Given the description of an element on the screen output the (x, y) to click on. 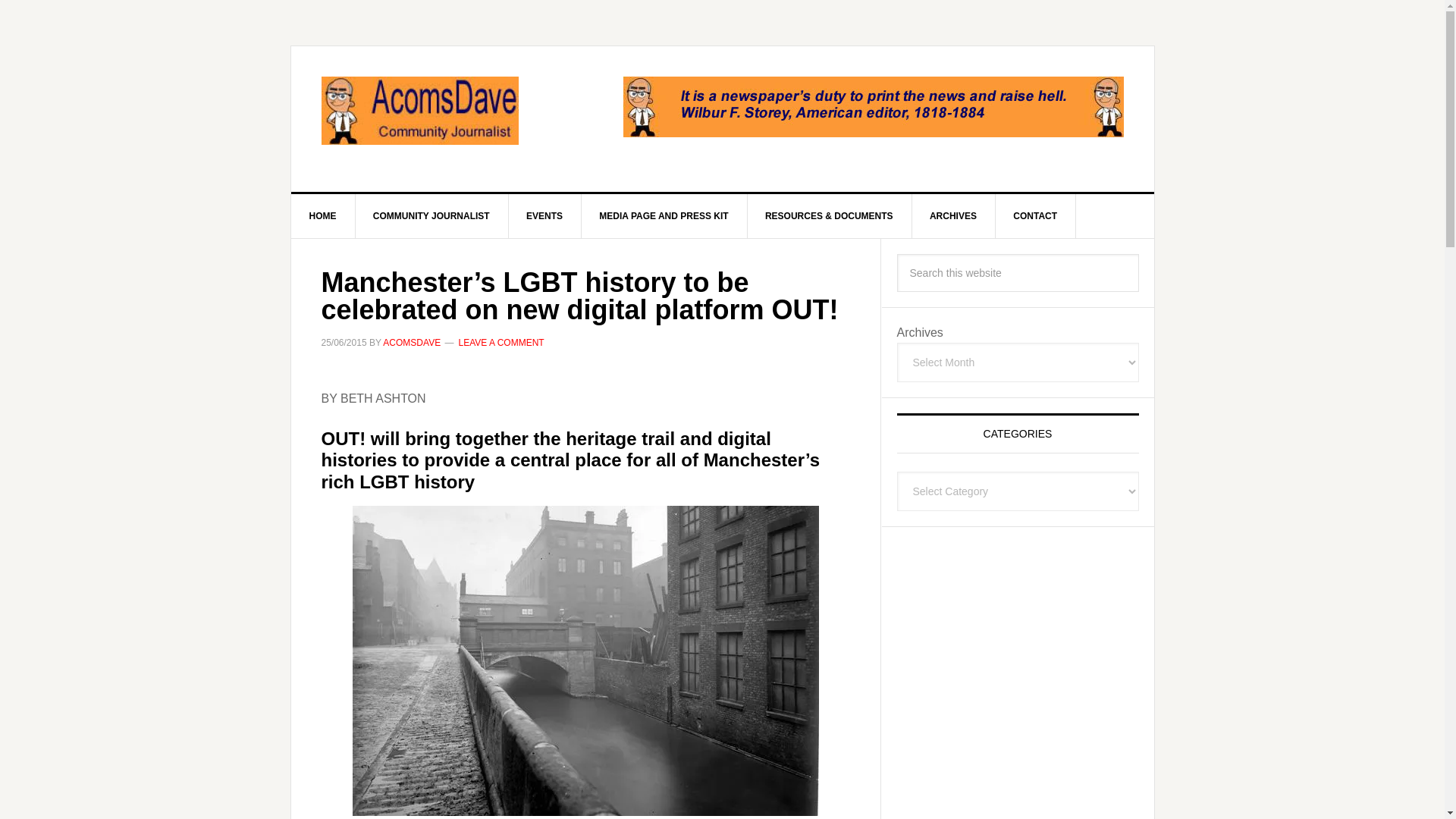
LEAVE A COMMENT (500, 342)
COMMUNITY JOURNALIST (431, 216)
ACOMSDAVE (411, 342)
MEDIA PAGE AND PRESS KIT (663, 216)
EVENTS (544, 216)
CONTACT (1034, 216)
ARCHIVES (953, 216)
HOME (323, 216)
ACOMSDAVE (419, 110)
